Given the description of an element on the screen output the (x, y) to click on. 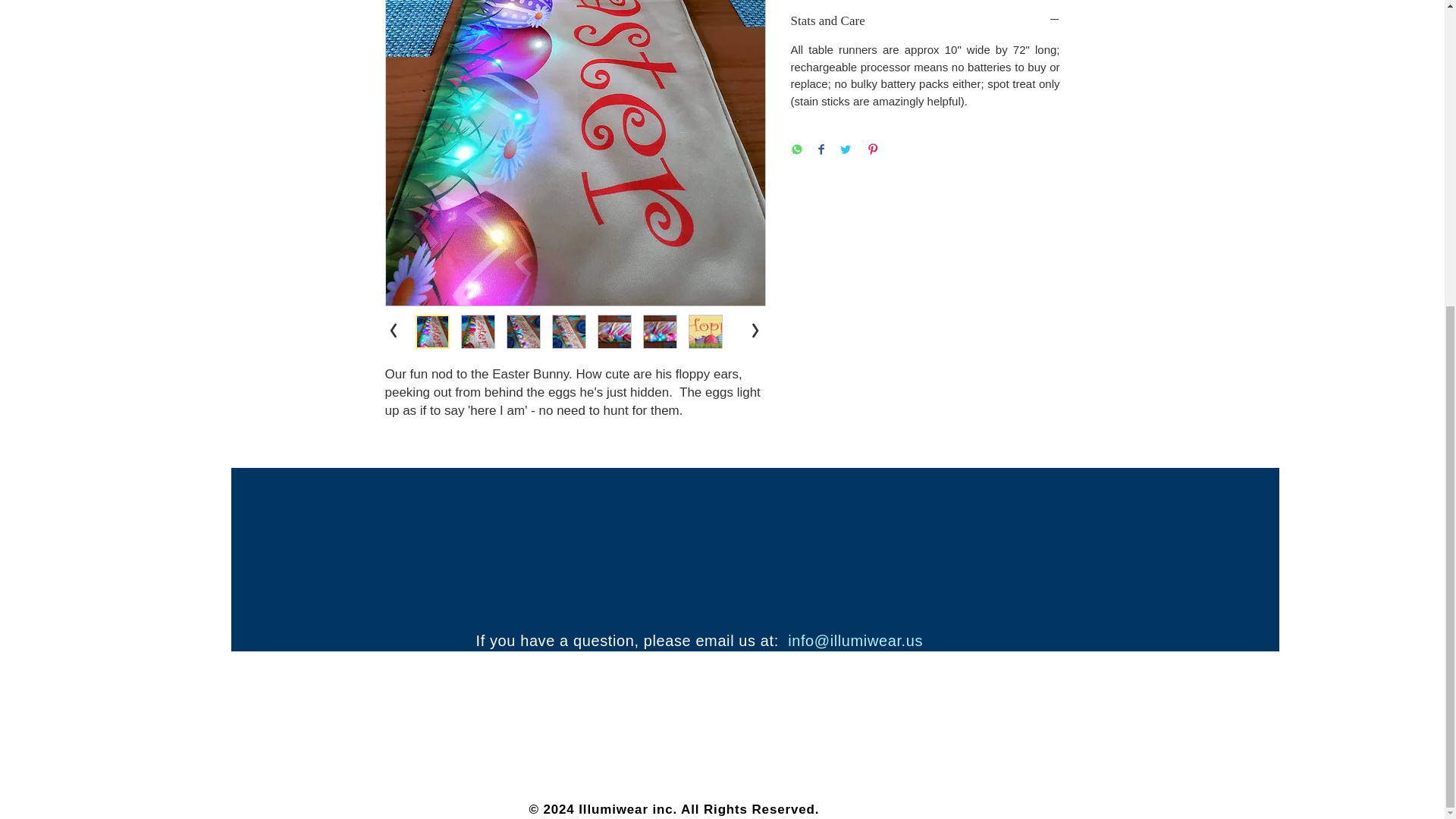
Stats and Care (924, 20)
